Given the description of an element on the screen output the (x, y) to click on. 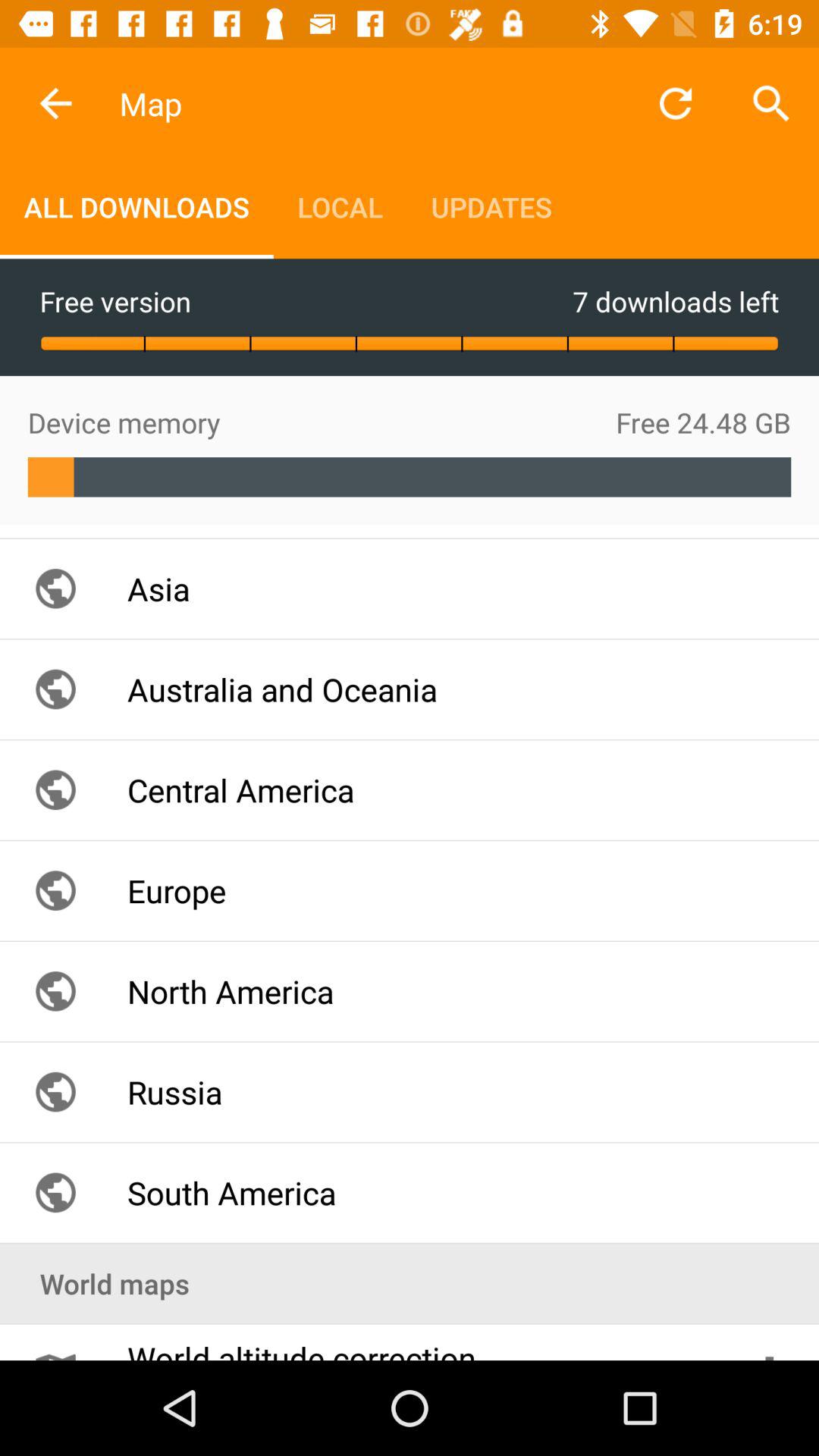
select the item above all downloads icon (55, 103)
